Given the description of an element on the screen output the (x, y) to click on. 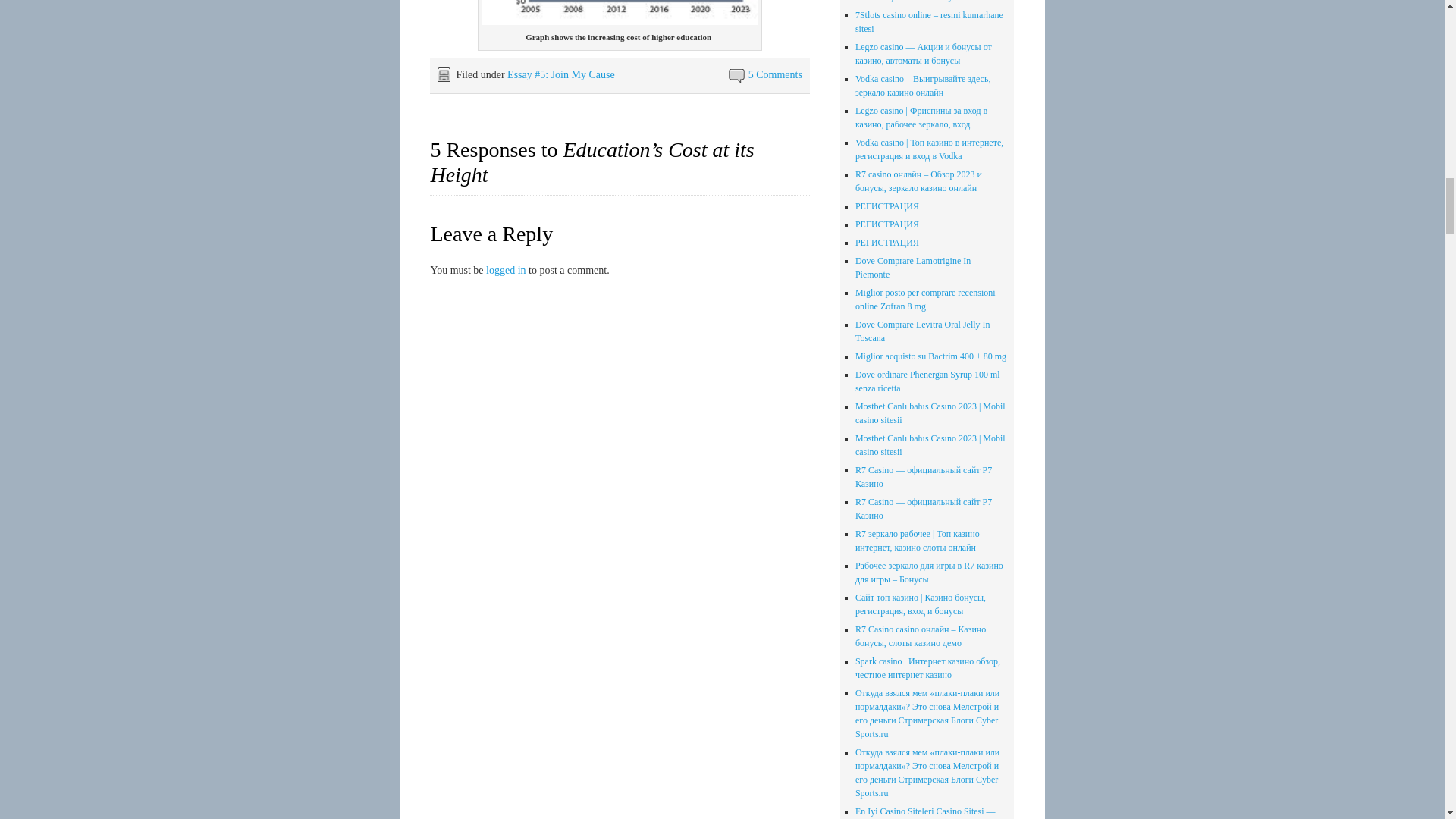
5 Comments (775, 74)
logged in (505, 270)
